Given the description of an element on the screen output the (x, y) to click on. 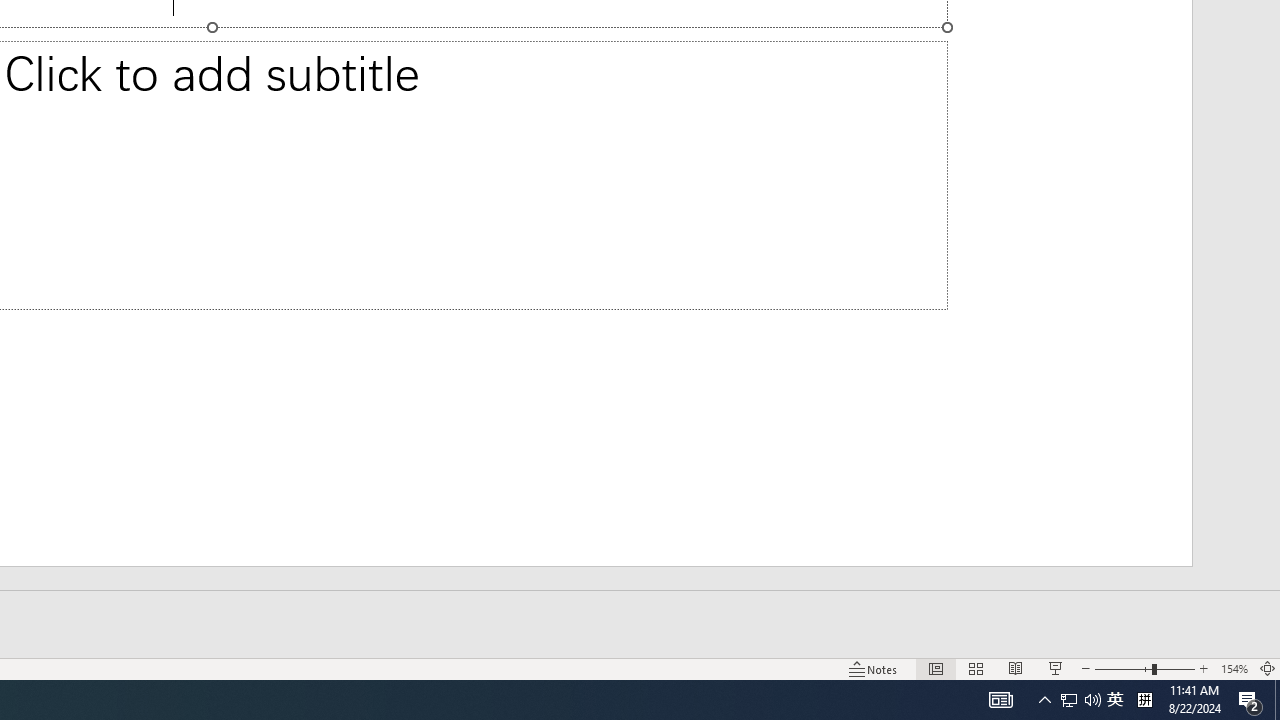
Zoom 154% (1234, 668)
